Given the description of an element on the screen output the (x, y) to click on. 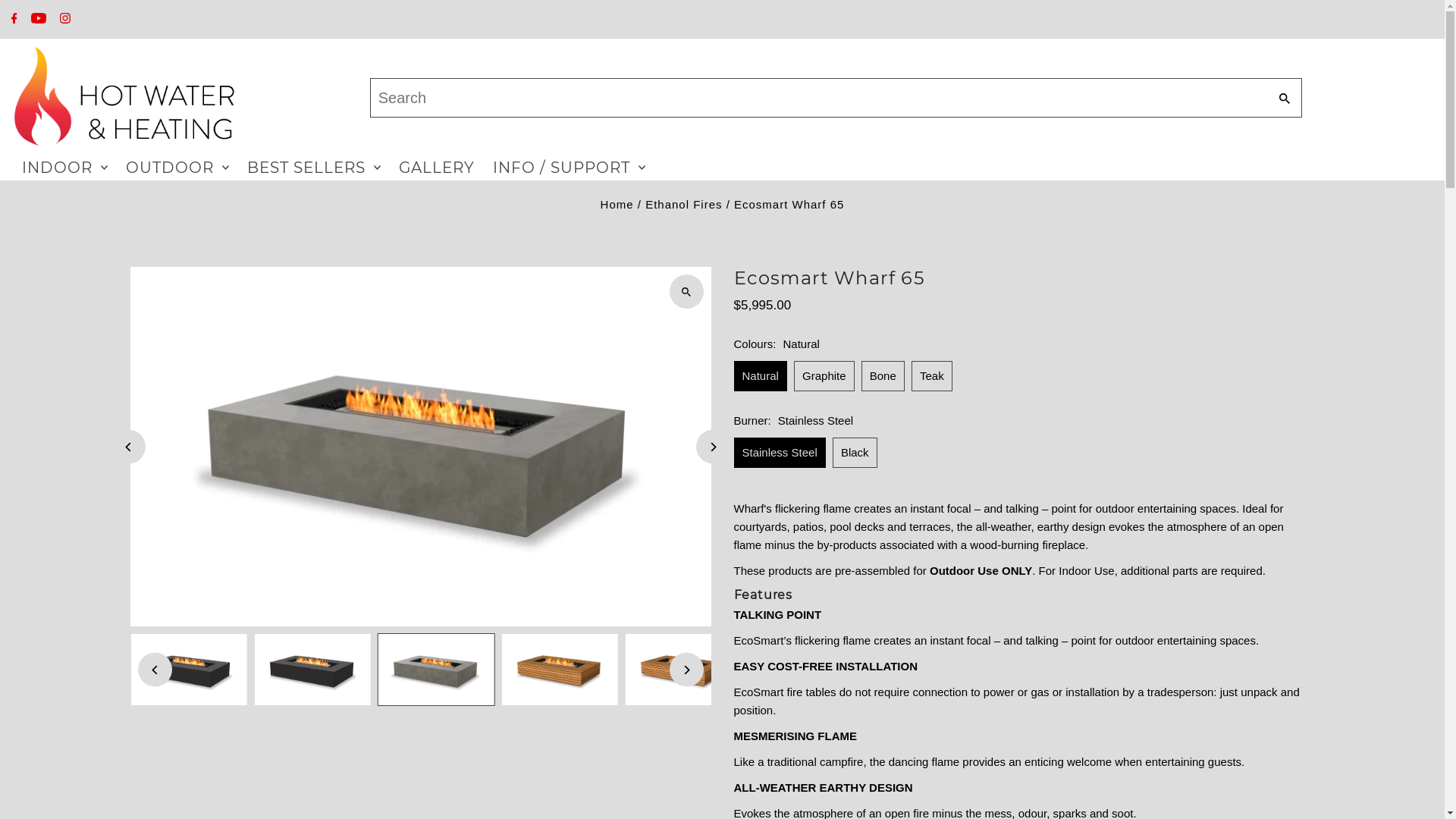
INFO / SUPPORT Element type: text (568, 167)
BEST SELLERS Element type: text (313, 167)
GALLERY Element type: text (436, 167)
Ethanol Fires Element type: text (683, 203)
INDOOR Element type: text (64, 167)
Click to zoom Element type: hover (685, 291)
Home Element type: text (616, 203)
OUTDOOR Element type: text (177, 167)
